Given the description of an element on the screen output the (x, y) to click on. 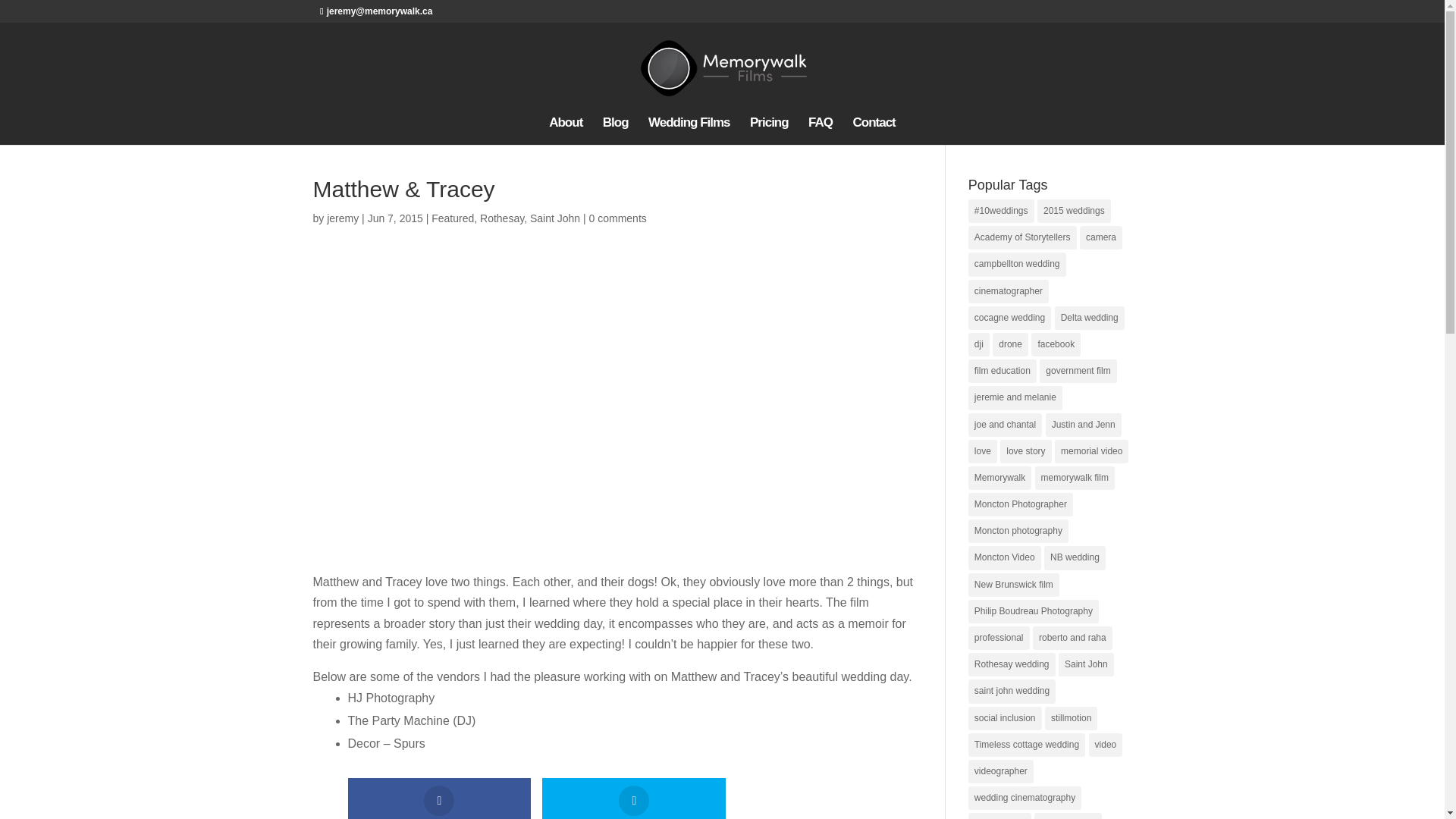
love (982, 451)
Justin and Jenn (1083, 423)
0 comments (617, 218)
Posts by jeremy (342, 218)
Featured (452, 218)
facebook (1055, 344)
drone (1009, 344)
2015 weddings (1073, 210)
jeremie and melanie (1015, 397)
dji (979, 344)
